Given the description of an element on the screen output the (x, y) to click on. 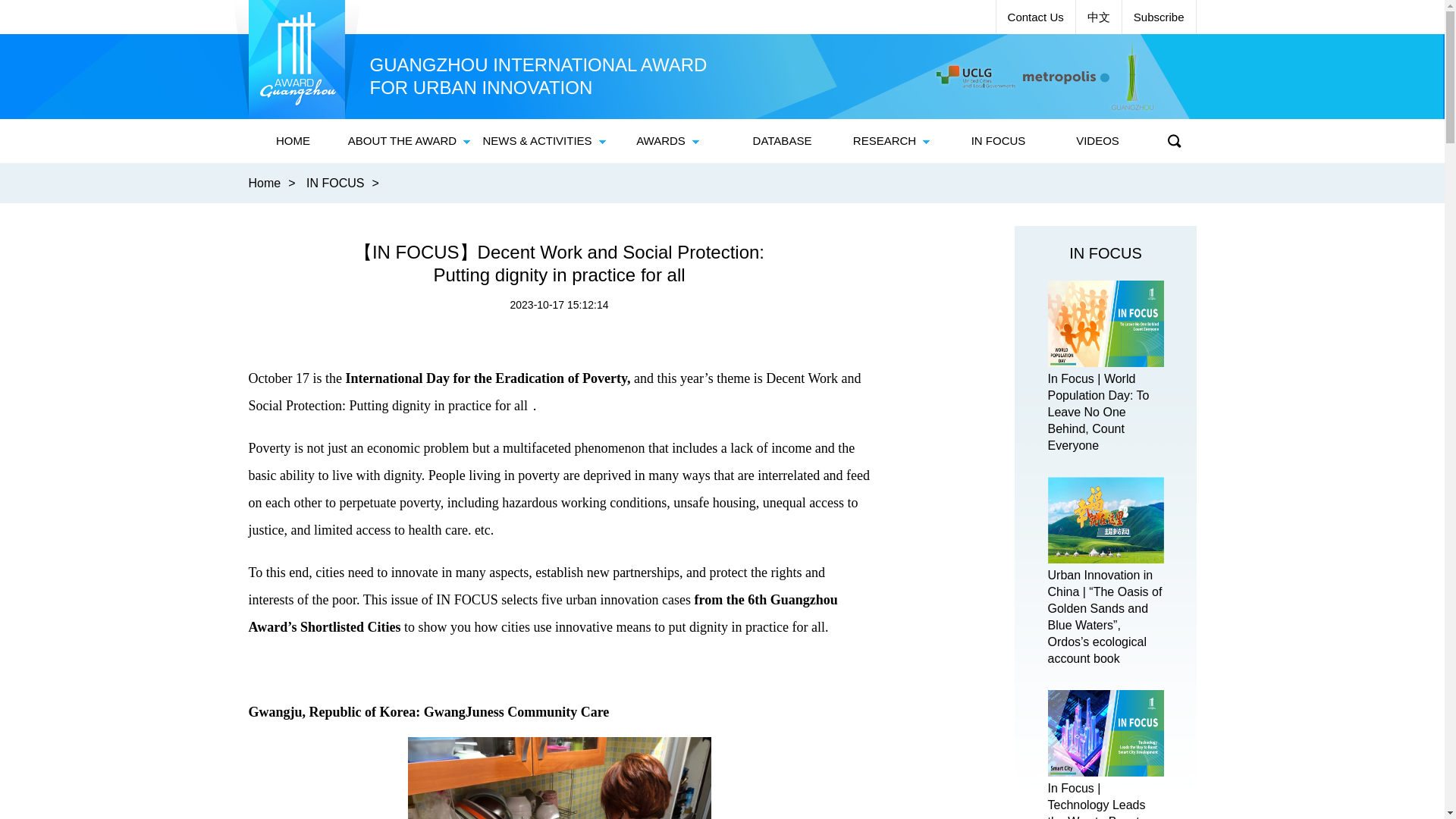
IN FOCUS (1104, 252)
RESEARCH  (891, 140)
IN FOCUS (998, 140)
Contact Us (1035, 17)
ABOUT THE AWARD  (408, 140)
AWARDS  (668, 140)
VIDEOS (1097, 140)
Subscribe (1159, 17)
DATABASE (782, 140)
HOME (292, 140)
IN FOCUS (334, 182)
Home (264, 182)
Search (1174, 140)
